Given the description of an element on the screen output the (x, y) to click on. 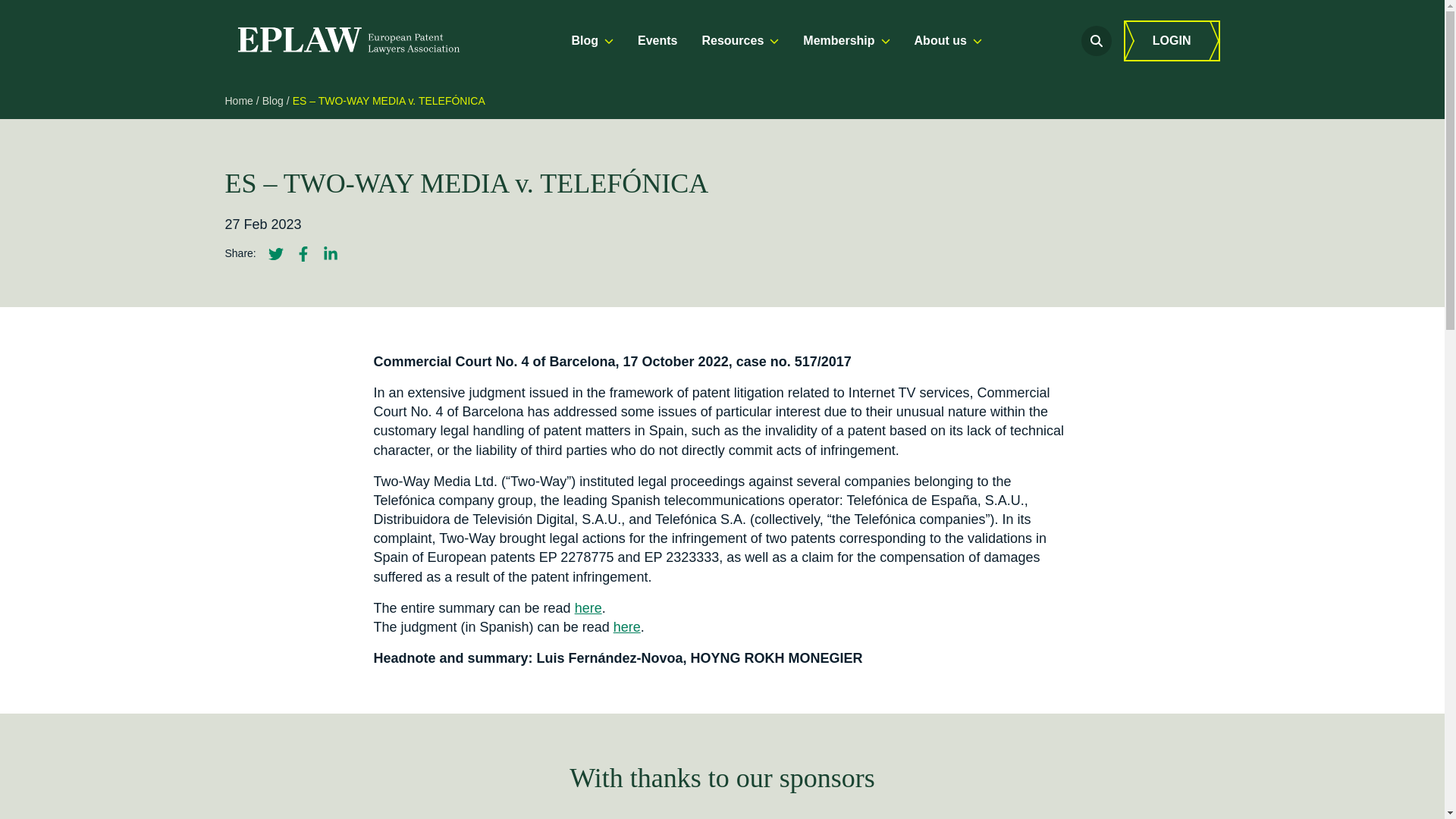
Resources (739, 41)
Membership (846, 41)
Open search form (1096, 40)
LOGIN (1172, 40)
EPLAW (347, 40)
